Given the description of an element on the screen output the (x, y) to click on. 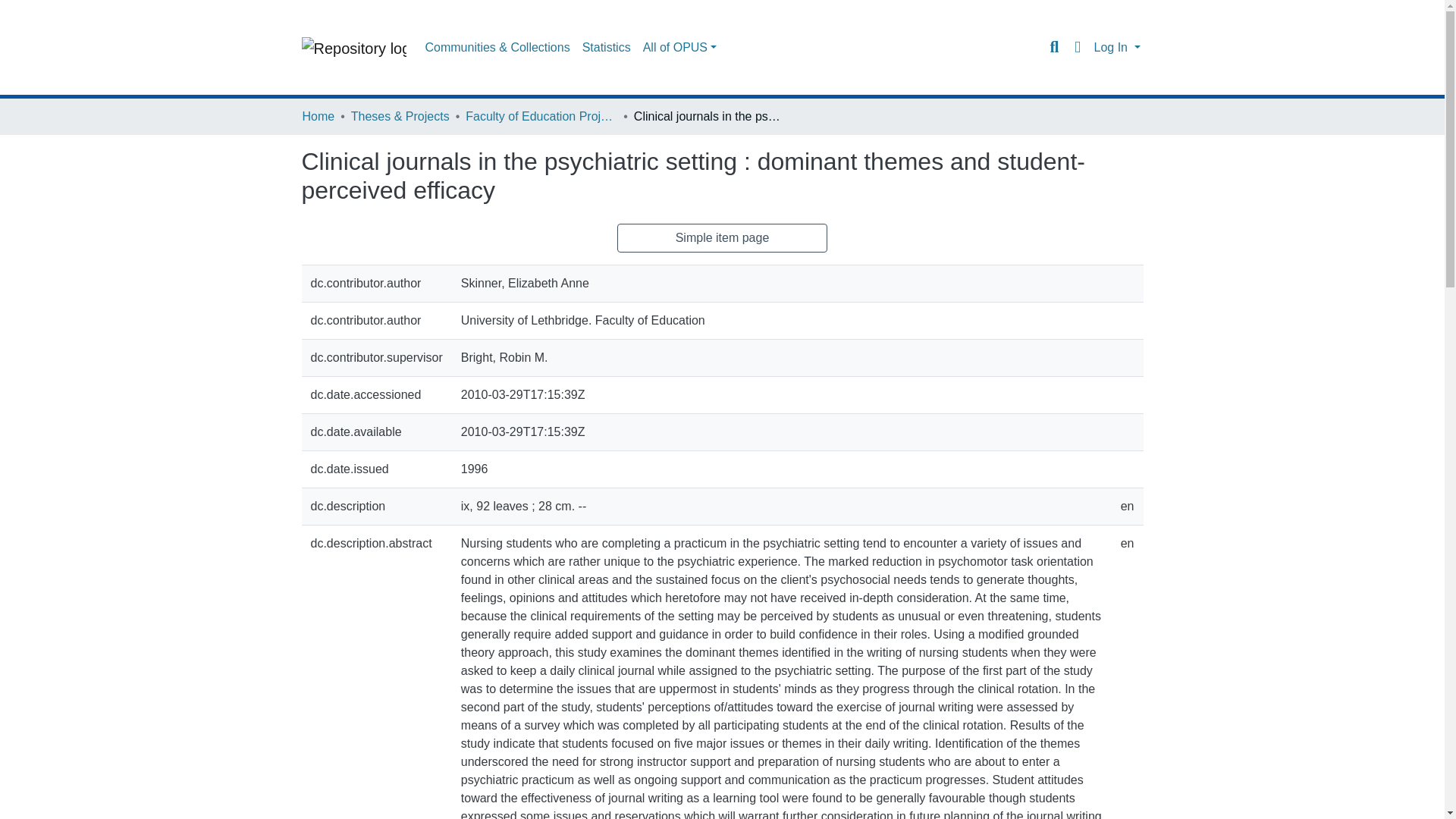
Log In (1116, 47)
Statistics (606, 47)
Simple item page (722, 237)
Search (1053, 47)
Statistics (606, 47)
All of OPUS (679, 47)
Home (317, 116)
Language switch (1077, 47)
